Given the description of an element on the screen output the (x, y) to click on. 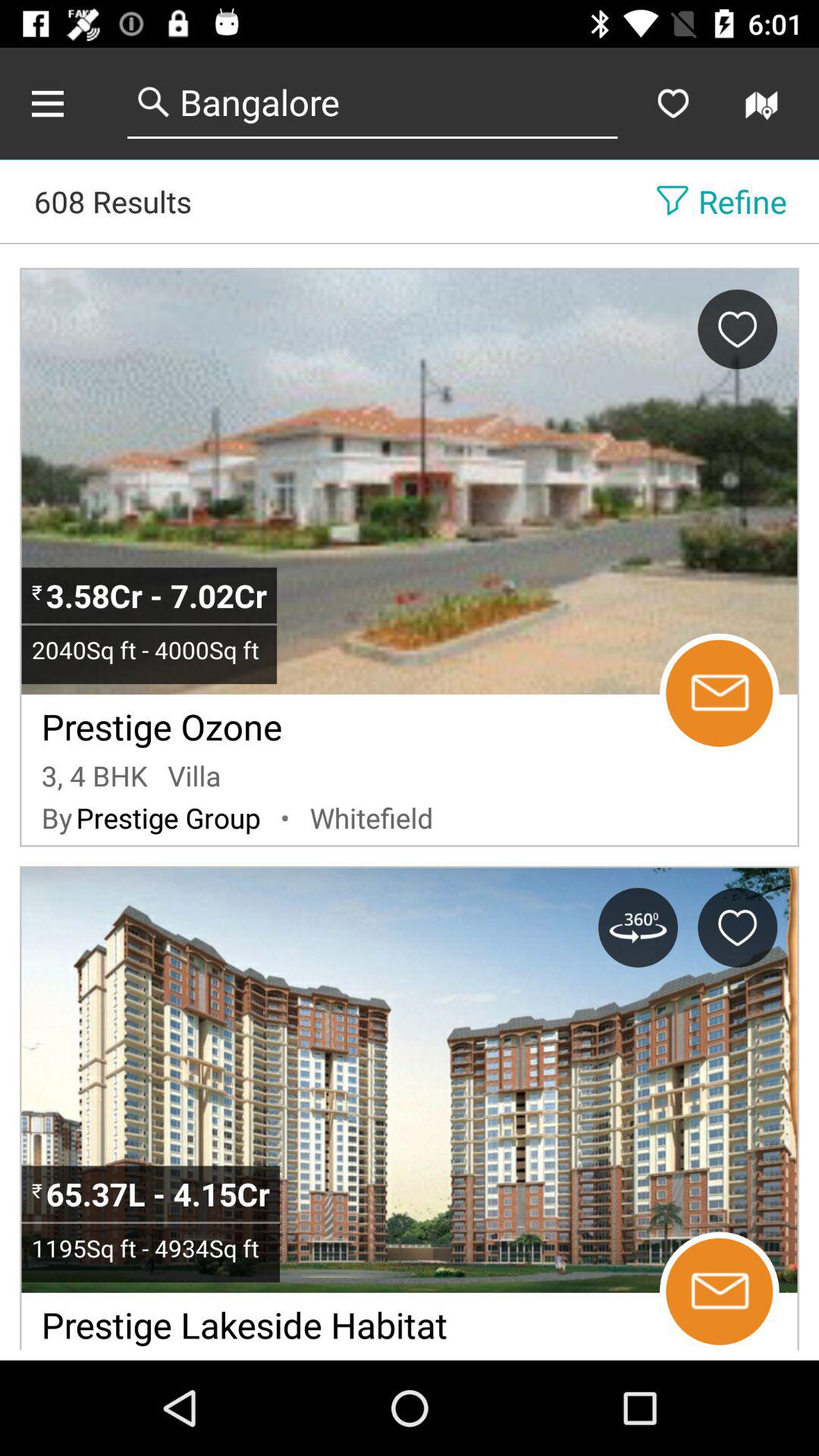
wishlist (673, 103)
